Given the description of an element on the screen output the (x, y) to click on. 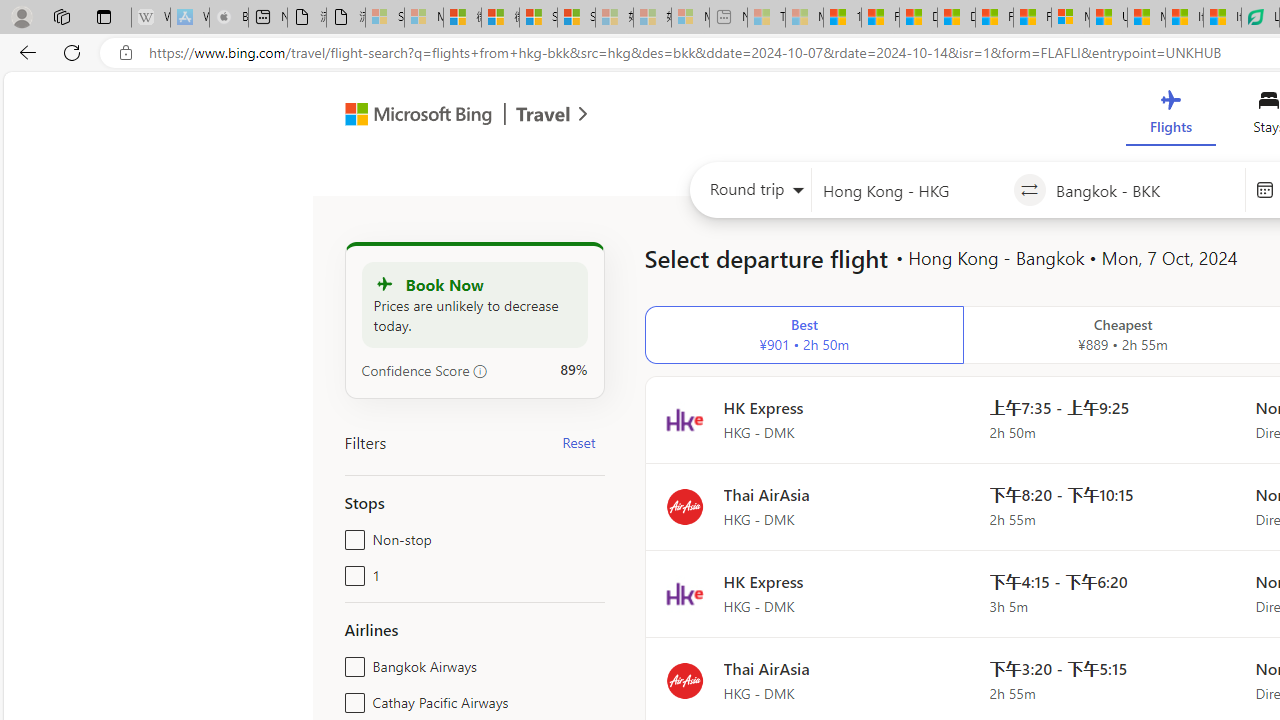
Class: autosuggest-container full-height no-y-padding (1145, 190)
Drinking tea every day is proven to delay biological aging (956, 17)
Microsoft Bing Travel (445, 116)
1 (351, 571)
Class: msft-bing-logo msft-bing-logo-desktop (413, 114)
Microsoft Bing (410, 116)
